Given the description of an element on the screen output the (x, y) to click on. 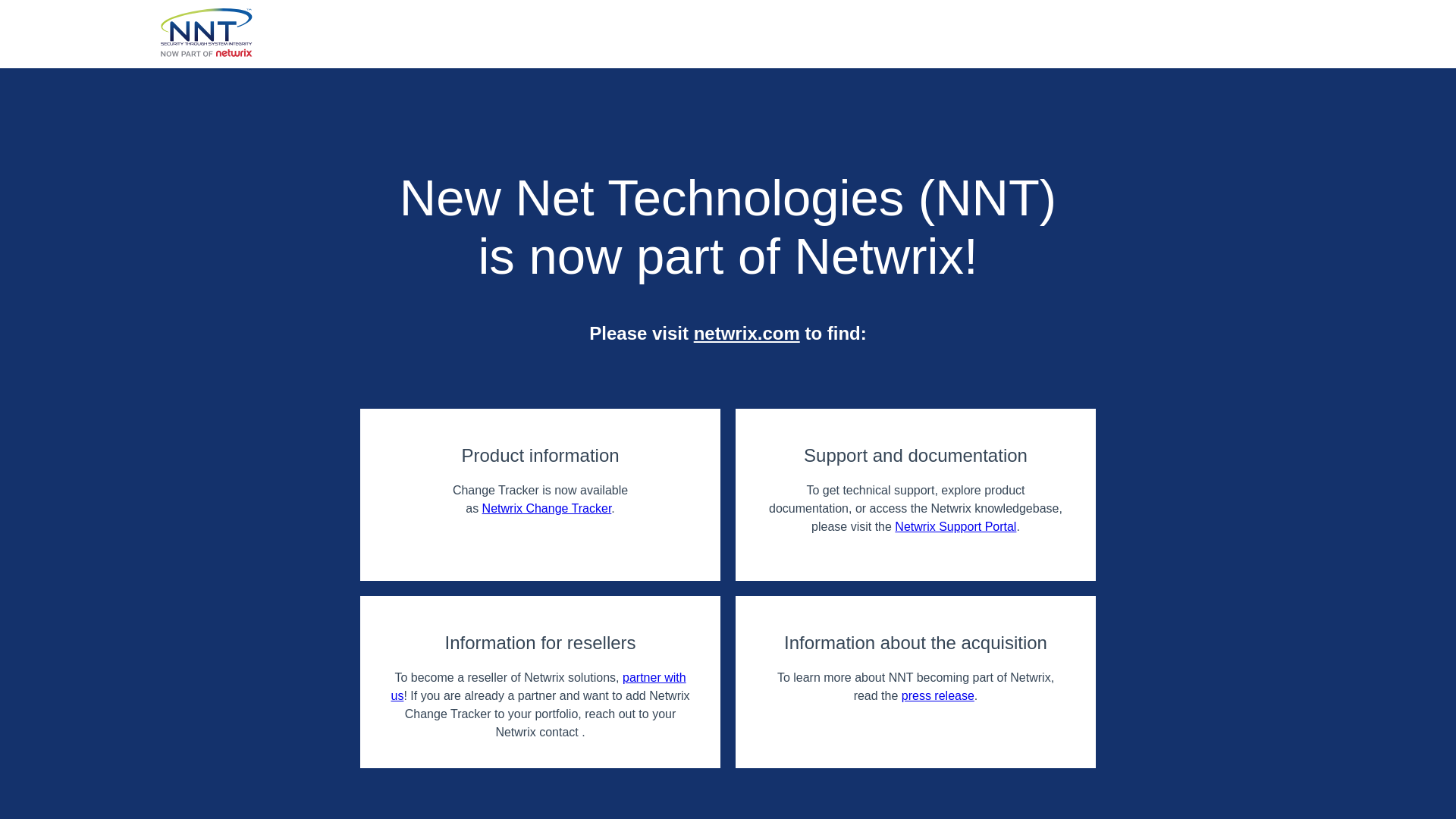
press release (937, 695)
Netwrix Support Portal (955, 526)
netwrix.com (746, 332)
Netwrix Change Tracker (546, 508)
partner with us (538, 685)
